Given the description of an element on the screen output the (x, y) to click on. 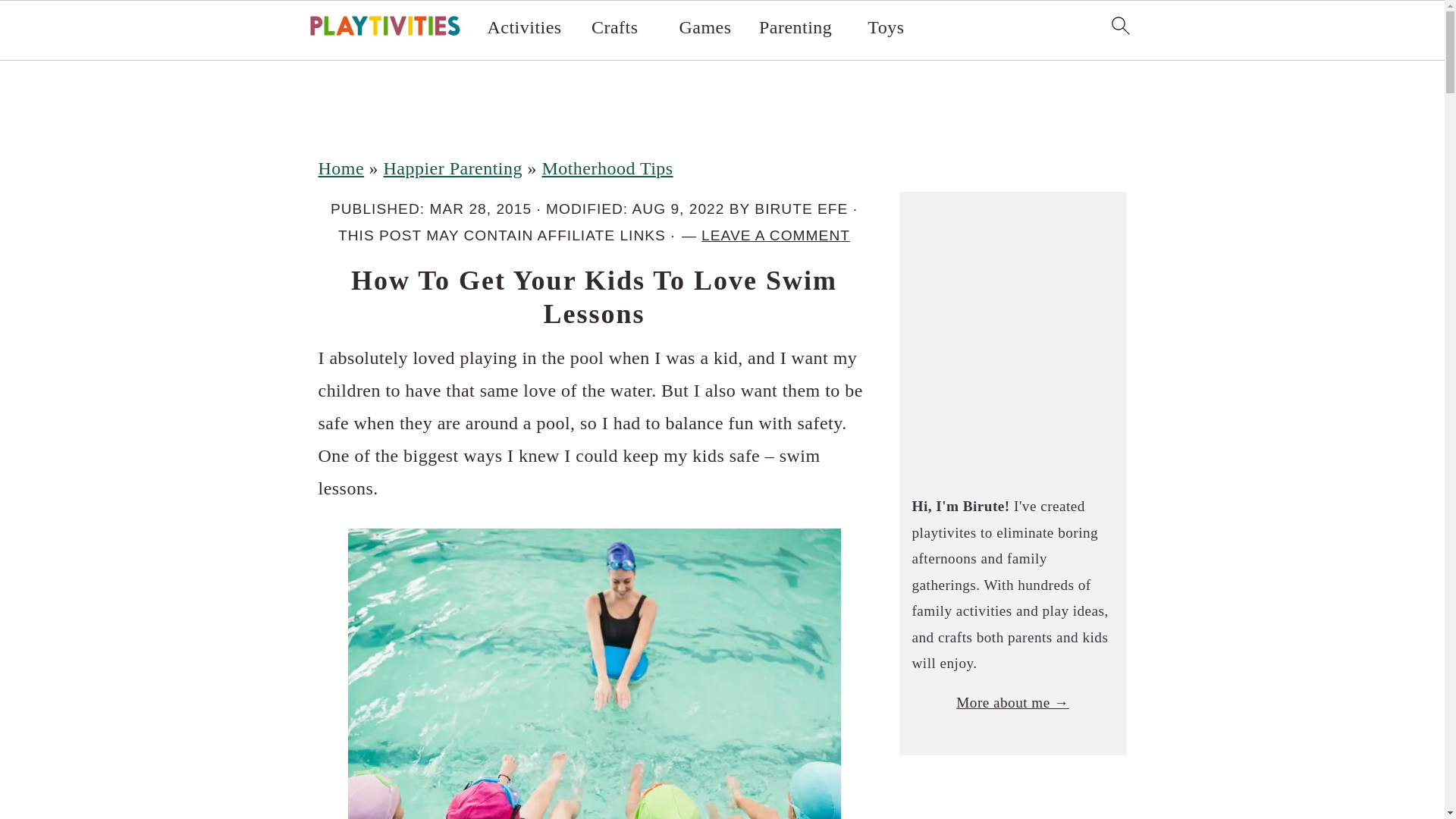
Crafts (615, 27)
Activities (524, 27)
search icon (1119, 25)
Toys (885, 27)
Parenting (794, 27)
Games (704, 27)
